Given the description of an element on the screen output the (x, y) to click on. 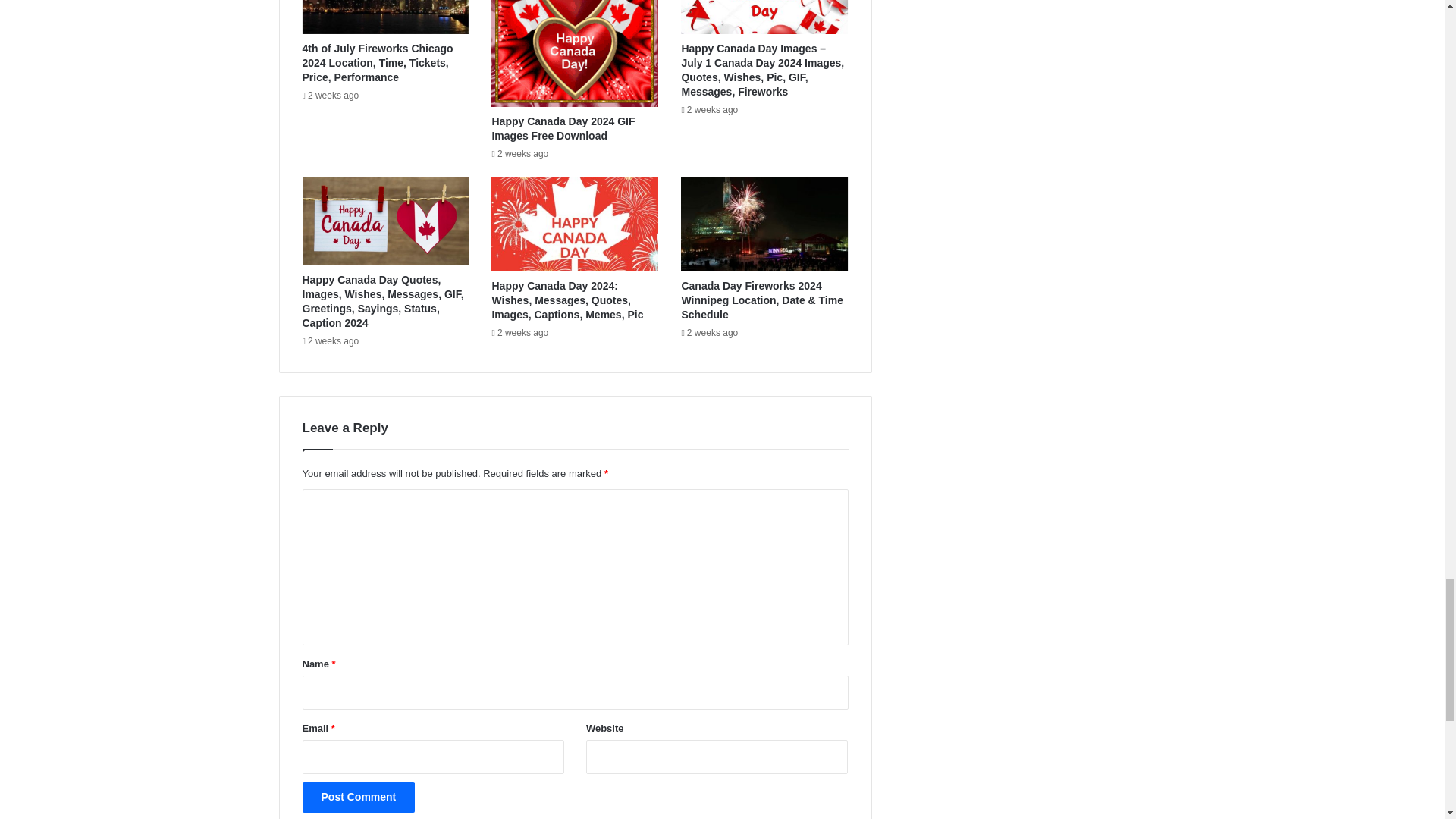
Post Comment (357, 797)
